Given the description of an element on the screen output the (x, y) to click on. 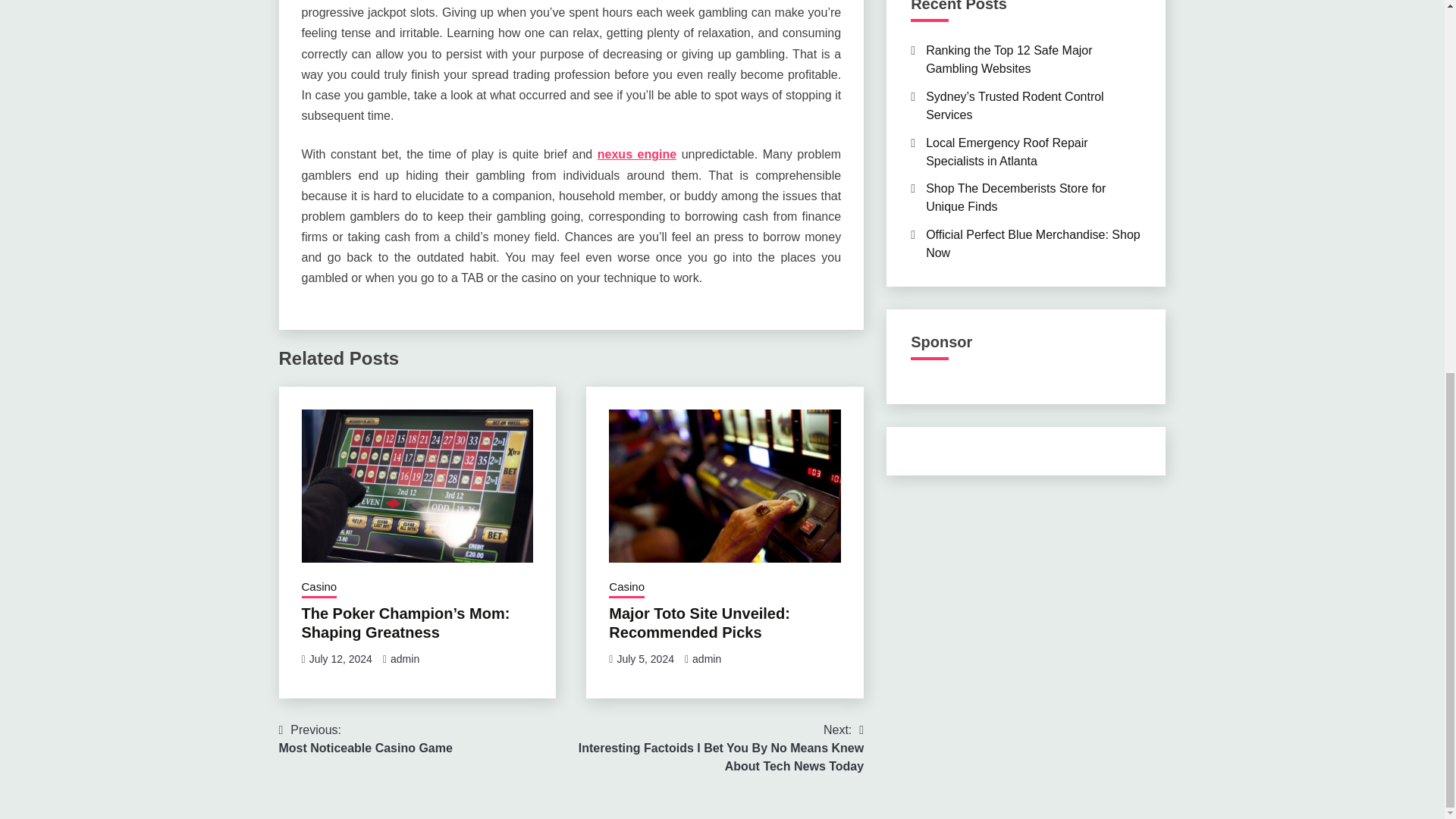
Casino (626, 588)
July 12, 2024 (340, 658)
Casino (319, 588)
Major Toto Site Unveiled: Recommended Picks (699, 622)
nexus engine (636, 154)
admin (404, 658)
July 5, 2024 (644, 658)
admin (706, 658)
